Given the description of an element on the screen output the (x, y) to click on. 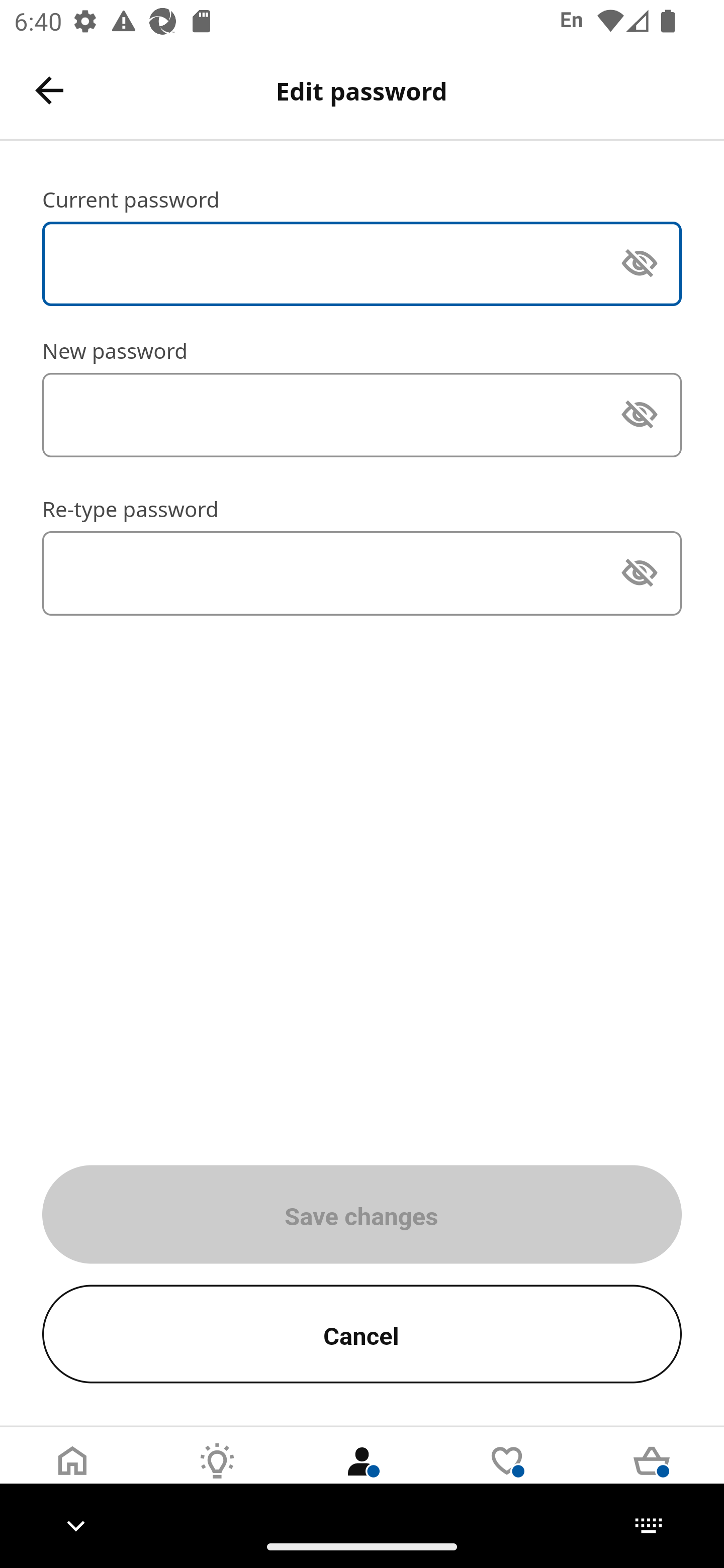
Save changes (361, 1214)
Cancel (361, 1333)
Home
Tab 1 of 5 (72, 1476)
Inspirations
Tab 2 of 5 (216, 1476)
User
Tab 3 of 5 (361, 1476)
Wishlist
Tab 4 of 5 (506, 1476)
Cart
Tab 5 of 5 (651, 1476)
